Given the description of an element on the screen output the (x, y) to click on. 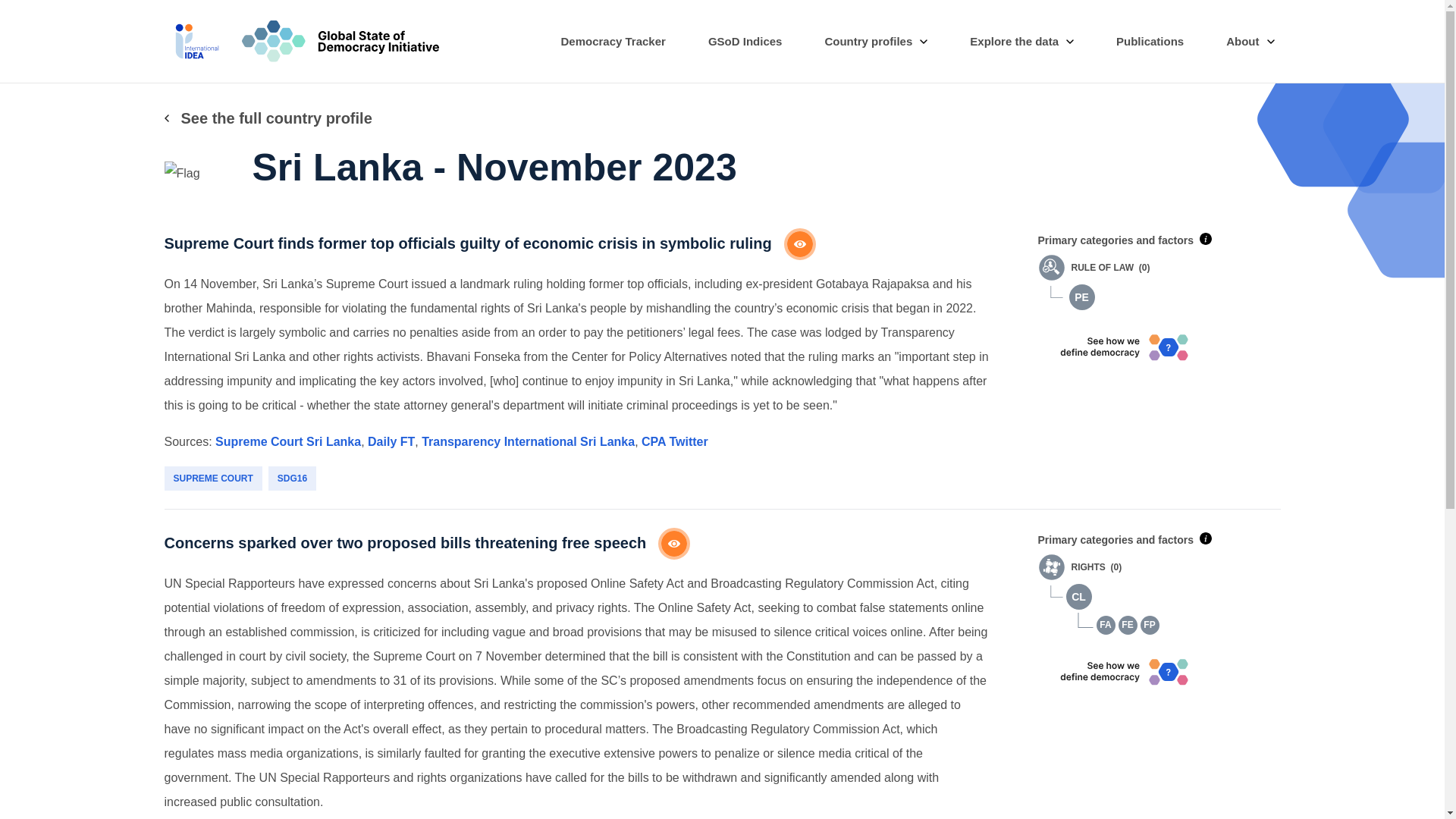
Explore the data (1021, 42)
Publications (1149, 42)
GSoD Indices (745, 42)
Democracy Tracker (612, 42)
About (1249, 42)
Country profiles (875, 42)
